Given the description of an element on the screen output the (x, y) to click on. 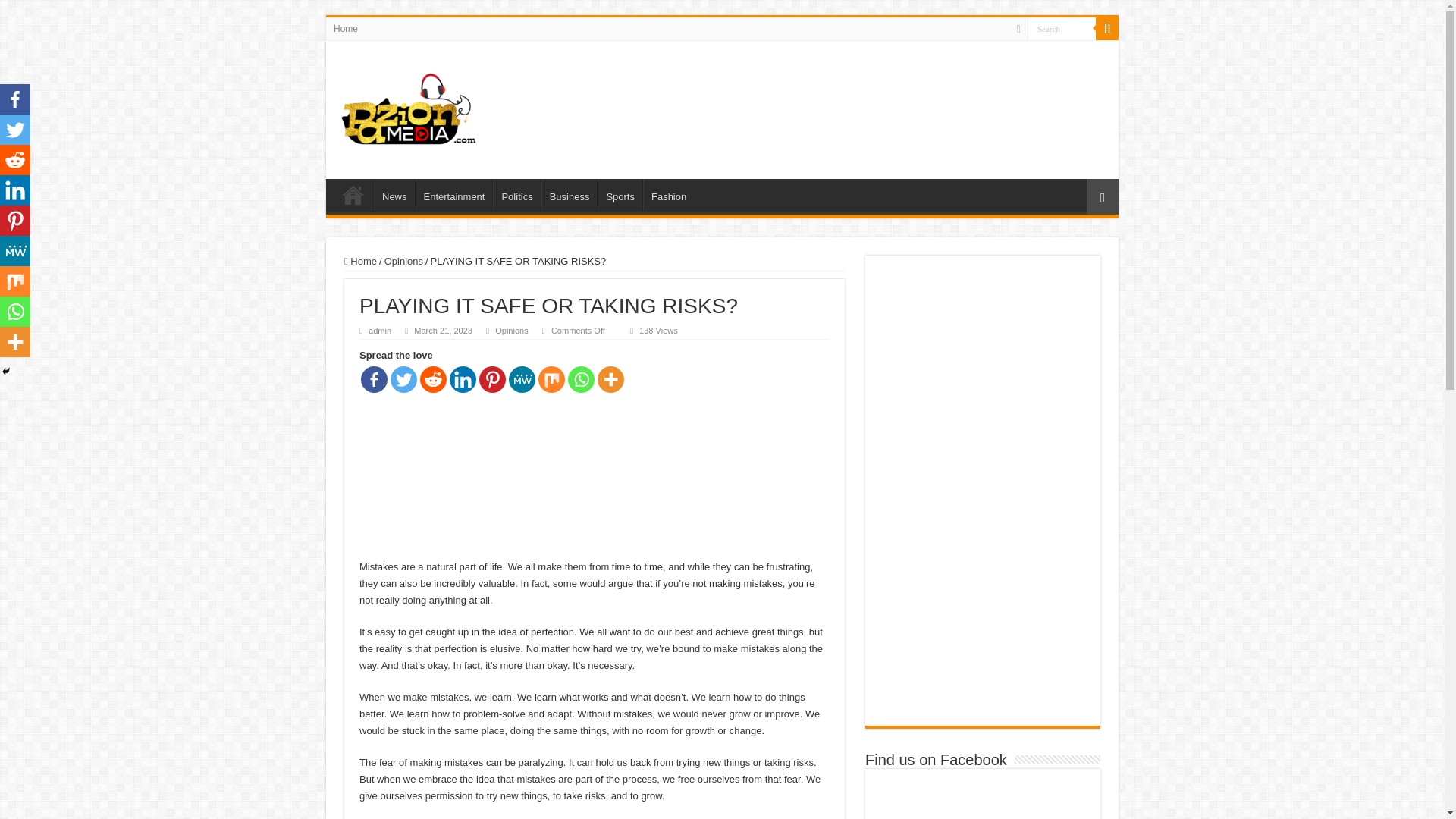
Business (568, 194)
Search (1107, 28)
Linkedin (462, 379)
Opinions (511, 329)
Facebook (374, 379)
Home (352, 194)
Sports (619, 194)
Twitter (403, 379)
Mix (551, 379)
Fashion (668, 194)
Home (360, 260)
Search (1061, 28)
Pinterest (492, 379)
Search (1061, 28)
Reddit (433, 379)
